Given the description of an element on the screen output the (x, y) to click on. 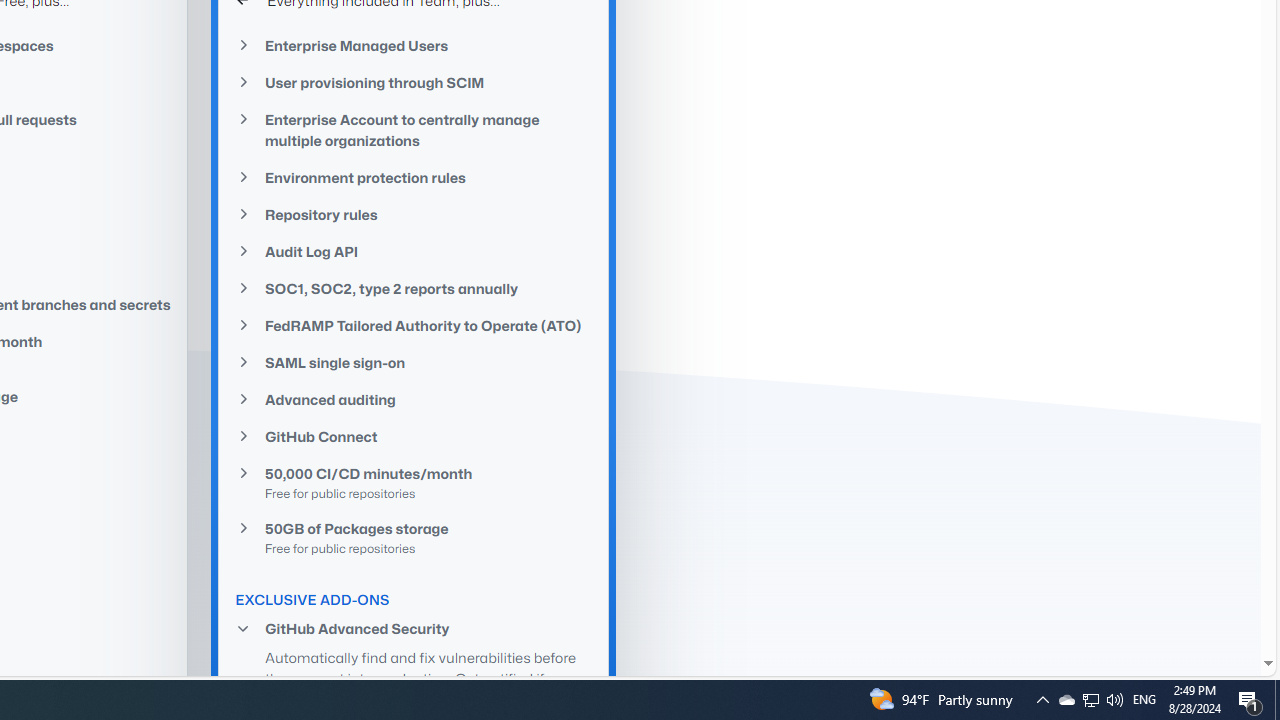
50GB of Packages storage Free for public repositories (413, 537)
FedRAMP Tailored Authority to Operate (ATO) (413, 325)
FedRAMP Tailored Authority to Operate (ATO) (413, 325)
User provisioning through SCIM (413, 82)
Advanced auditing (413, 399)
Enterprise Managed Users (413, 44)
50,000 CI/CD minutes/monthFree for public repositories (413, 482)
Environment protection rules (413, 177)
SOC1, SOC2, type 2 reports annually (413, 288)
Audit Log API (413, 250)
Environment protection rules (413, 178)
GitHub Advanced Security (413, 628)
Advanced auditing (413, 399)
SAML single sign-on (413, 363)
